Given the description of an element on the screen output the (x, y) to click on. 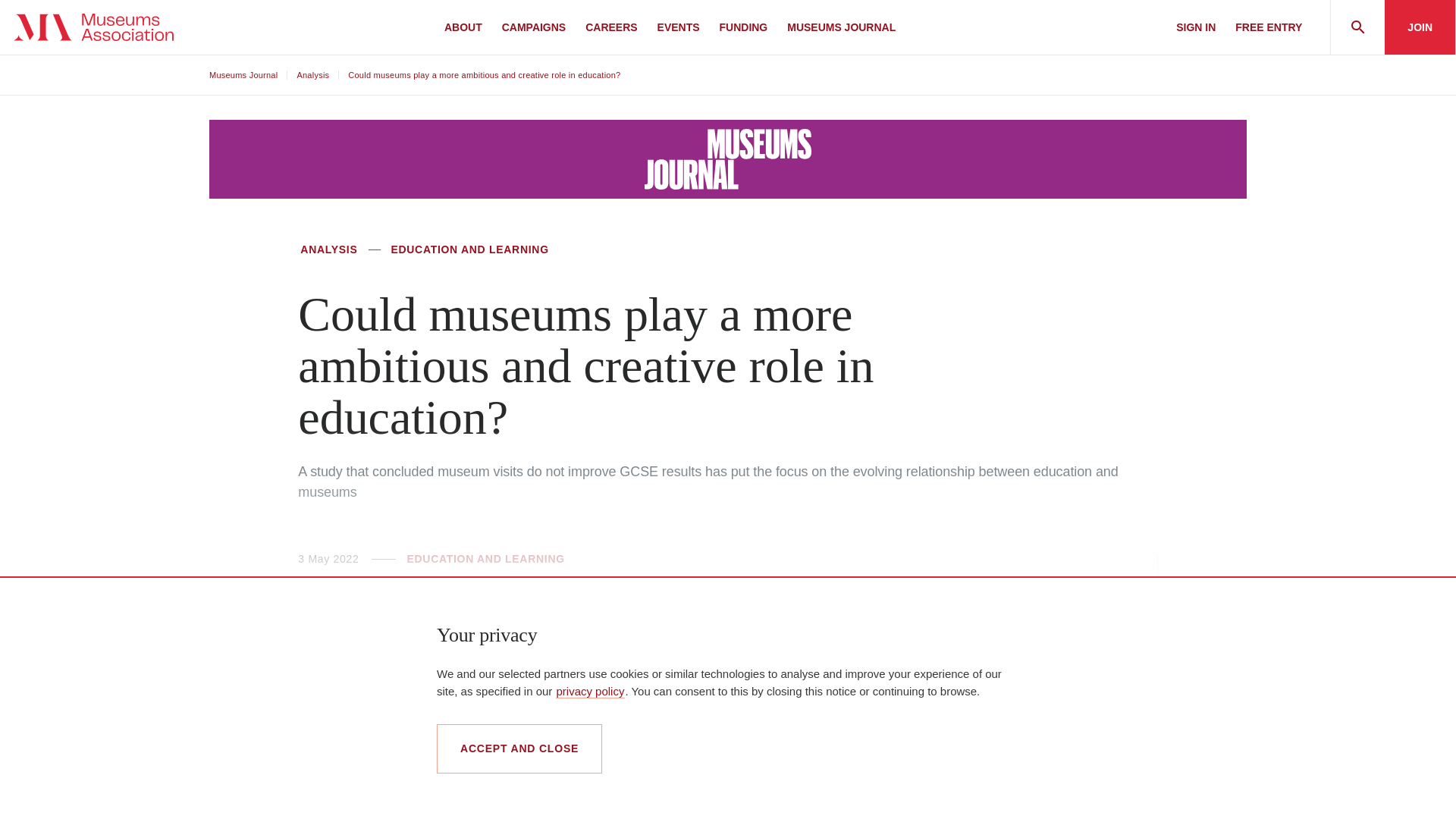
CAMPAIGNS (533, 27)
CAREERS (611, 27)
Privacy Policy (589, 690)
